Given the description of an element on the screen output the (x, y) to click on. 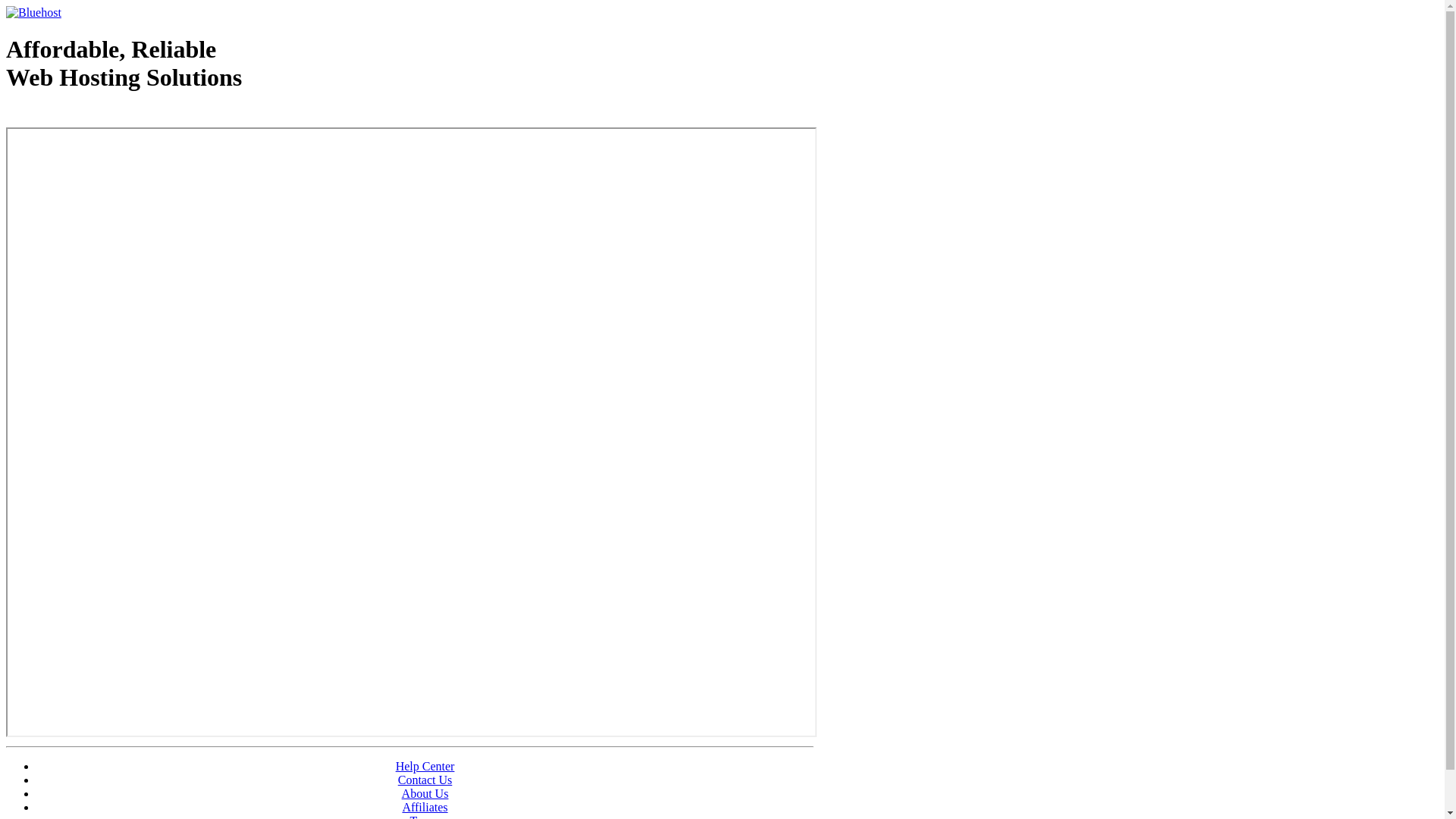
Web Hosting - courtesy of www.bluehost.com Element type: text (94, 115)
Contact Us Element type: text (425, 779)
Help Center Element type: text (425, 765)
Affiliates Element type: text (424, 806)
About Us Element type: text (424, 793)
